Given the description of an element on the screen output the (x, y) to click on. 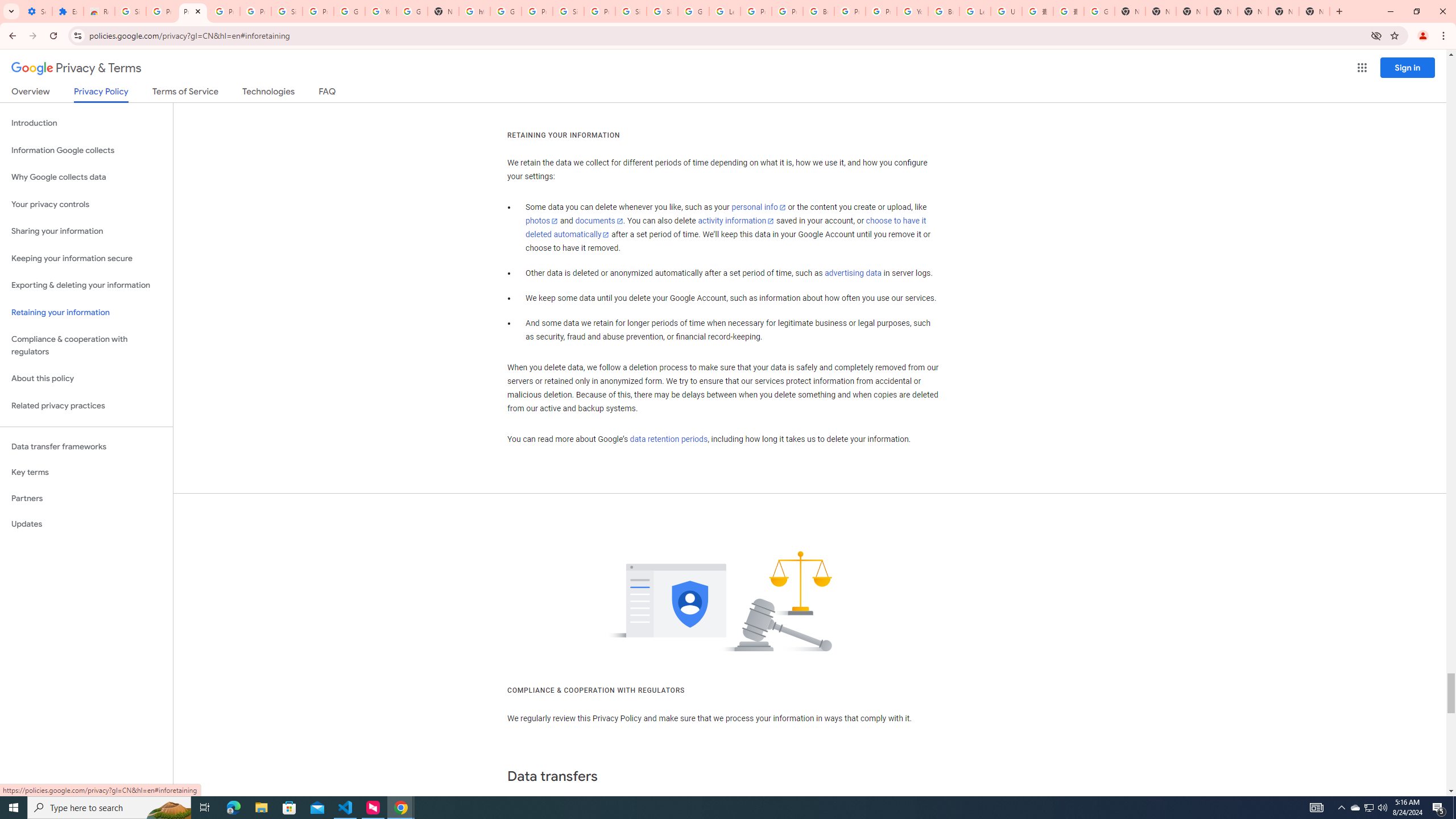
advertising data (852, 273)
personal info (758, 207)
Privacy Help Center - Policies Help (787, 11)
Data transfer frameworks (86, 446)
Settings - On startup (36, 11)
YouTube (912, 11)
